Given the description of an element on the screen output the (x, y) to click on. 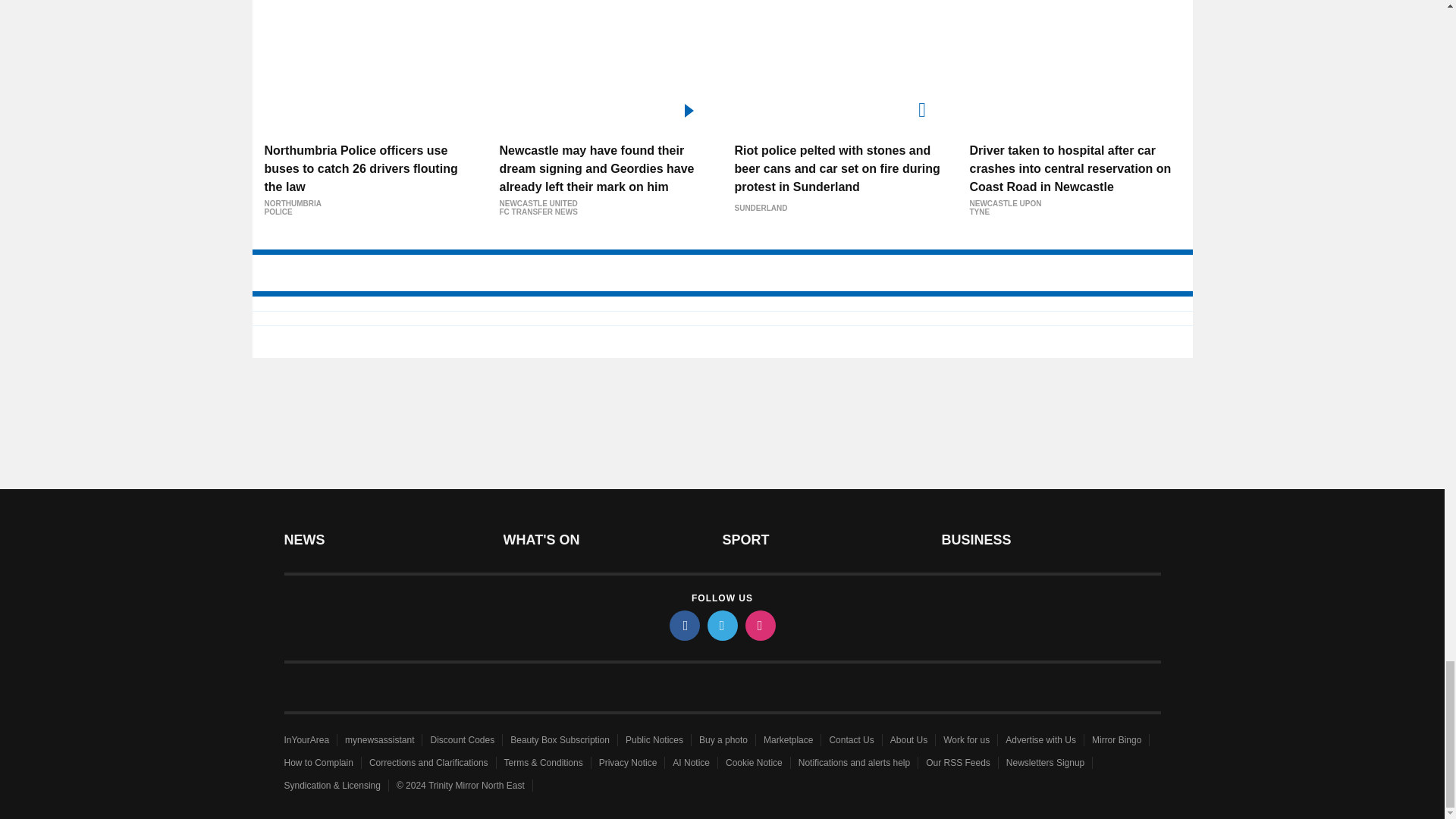
instagram (759, 625)
facebook (683, 625)
twitter (721, 625)
